Given the description of an element on the screen output the (x, y) to click on. 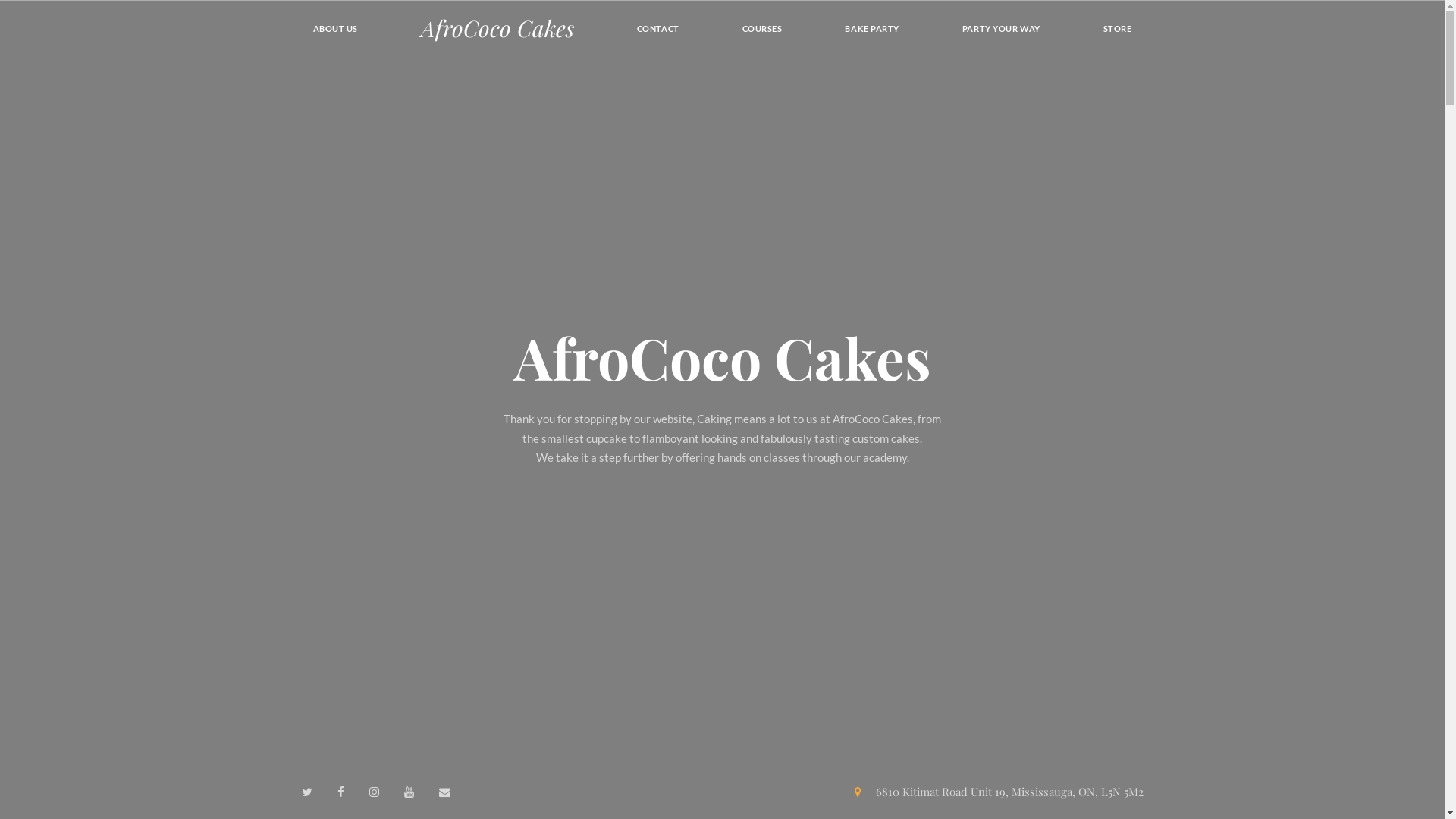
BAKE PARTY Element type: text (871, 27)
ABOUT US Element type: text (335, 27)
PARTY YOUR WAY Element type: text (1000, 27)
COURSES Element type: text (762, 27)
AfroCoco Cakes Element type: text (497, 28)
STORE Element type: text (1117, 27)
CONTACT Element type: text (657, 27)
